Given the description of an element on the screen output the (x, y) to click on. 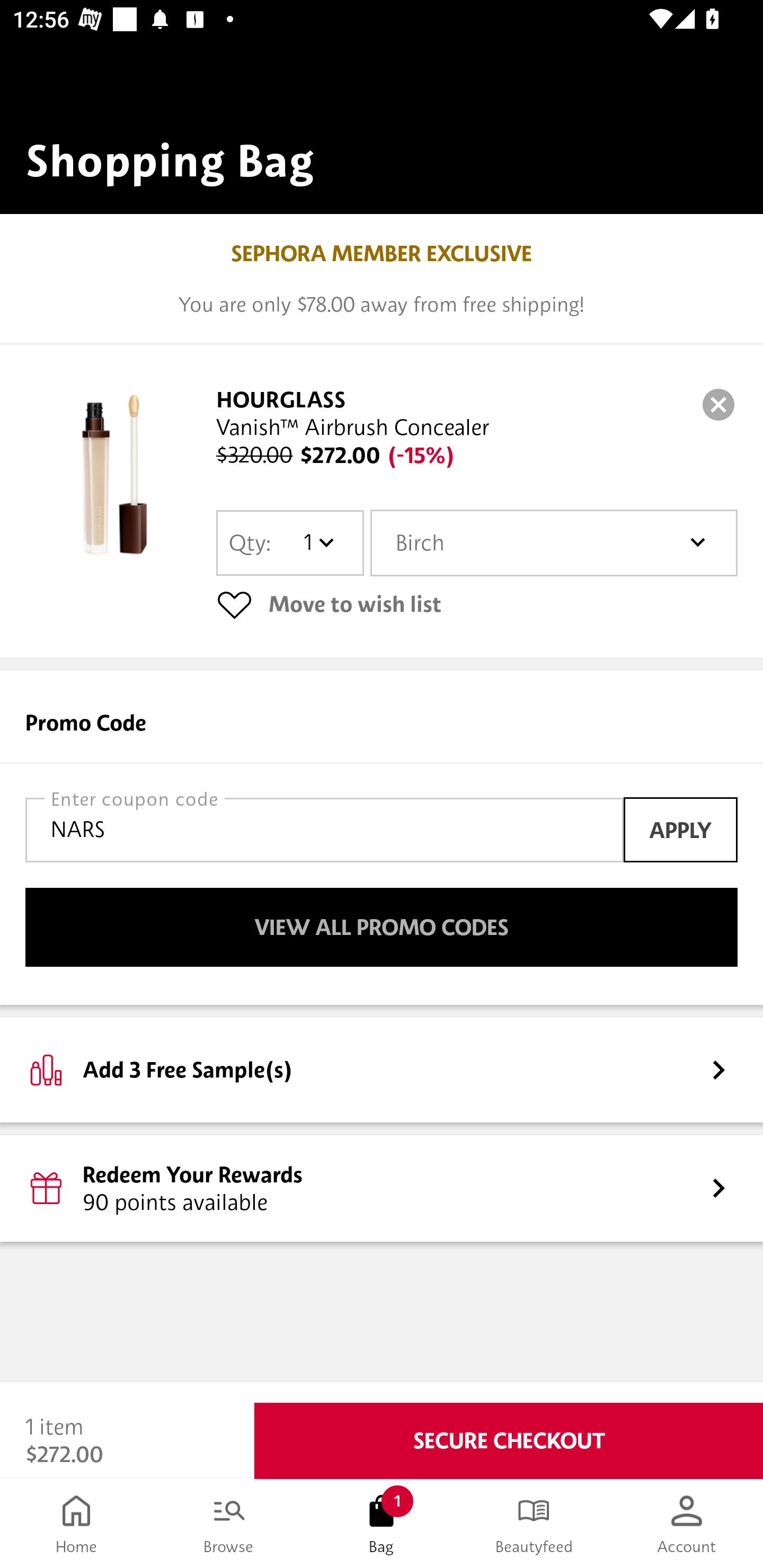
Birch (553, 542)
1 (317, 542)
Move to wish list (476, 604)
Promo Code NARS APPLY VIEW ALL PROMO CODES (381, 838)
APPLY (680, 829)
NARS (324, 830)
VIEW ALL PROMO CODES (381, 927)
Add 3 Free Sample(s) (381, 1069)
Redeem Your Rewards 90 points available (381, 1188)
SECURE CHECKOUT (508, 1440)
Home (76, 1523)
Browse (228, 1523)
Beautyfeed (533, 1523)
Account (686, 1523)
